Given the description of an element on the screen output the (x, y) to click on. 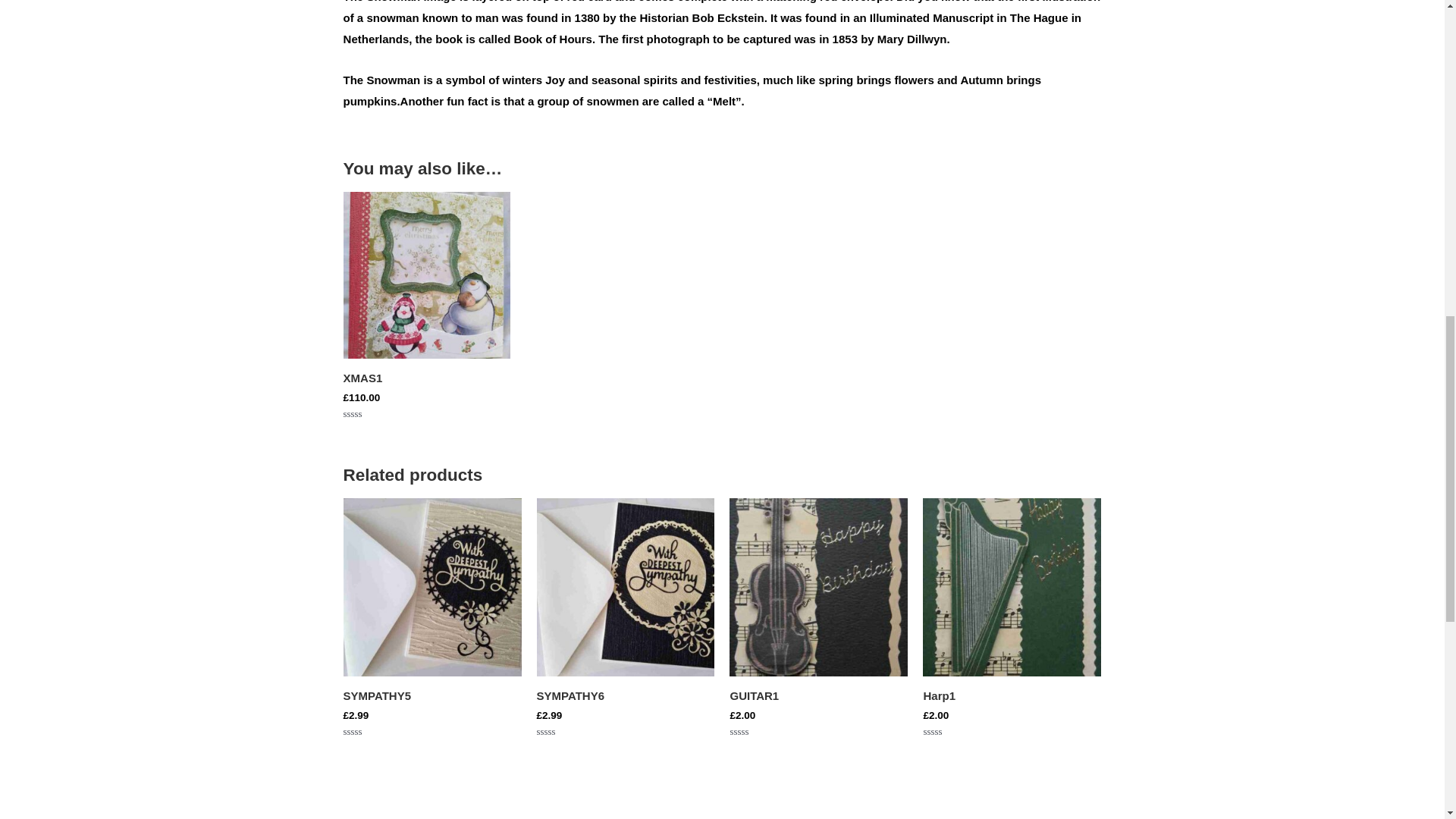
Mary Dillwyn (913, 38)
SYMPATHY5 (432, 698)
Mary Dillwyn. (913, 38)
XMAS1 (427, 381)
